Given the description of an element on the screen output the (x, y) to click on. 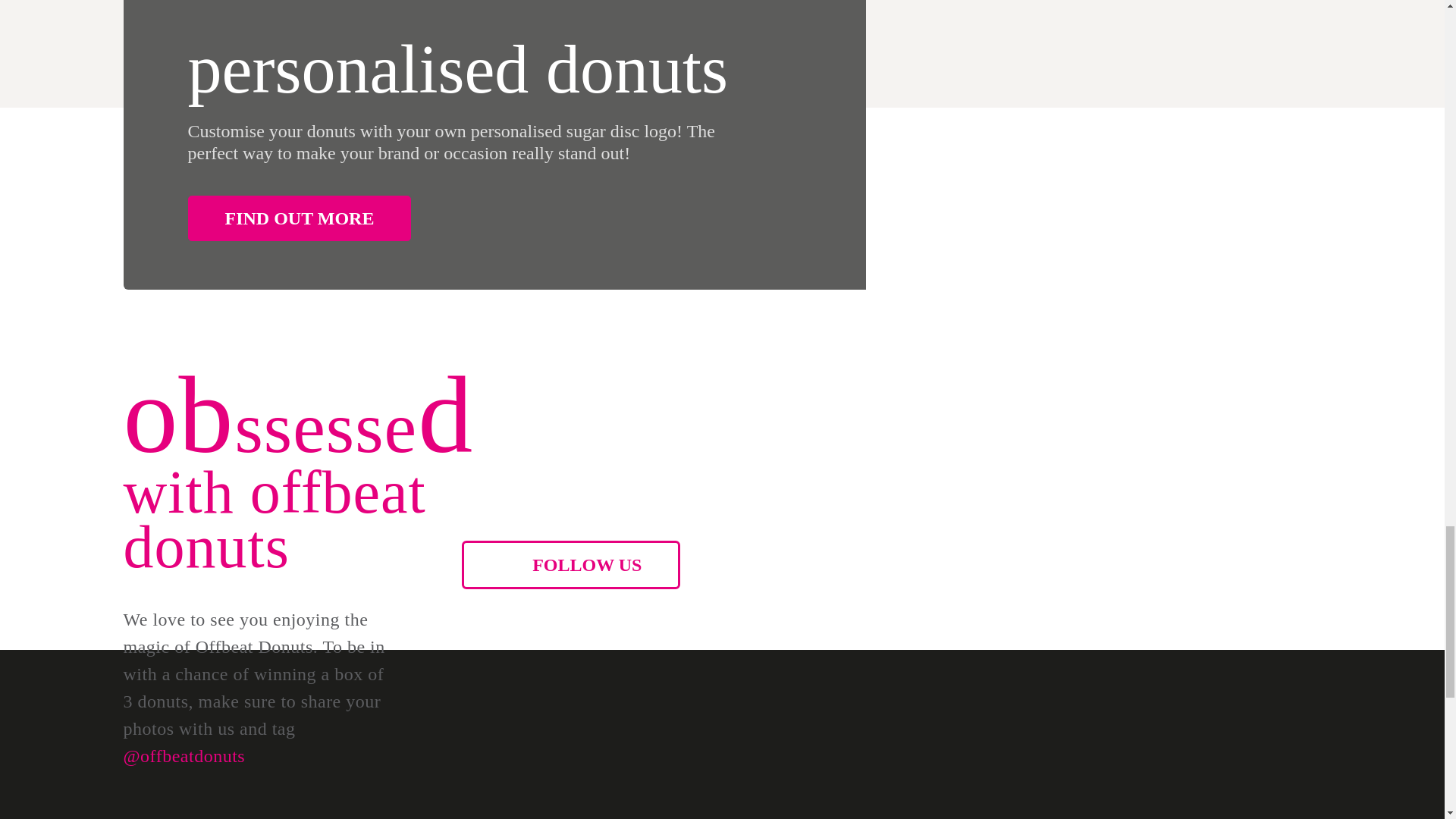
FIND OUT MORE (299, 217)
TRY ME! (976, 491)
FOLLOW US (570, 564)
